Given the description of an element on the screen output the (x, y) to click on. 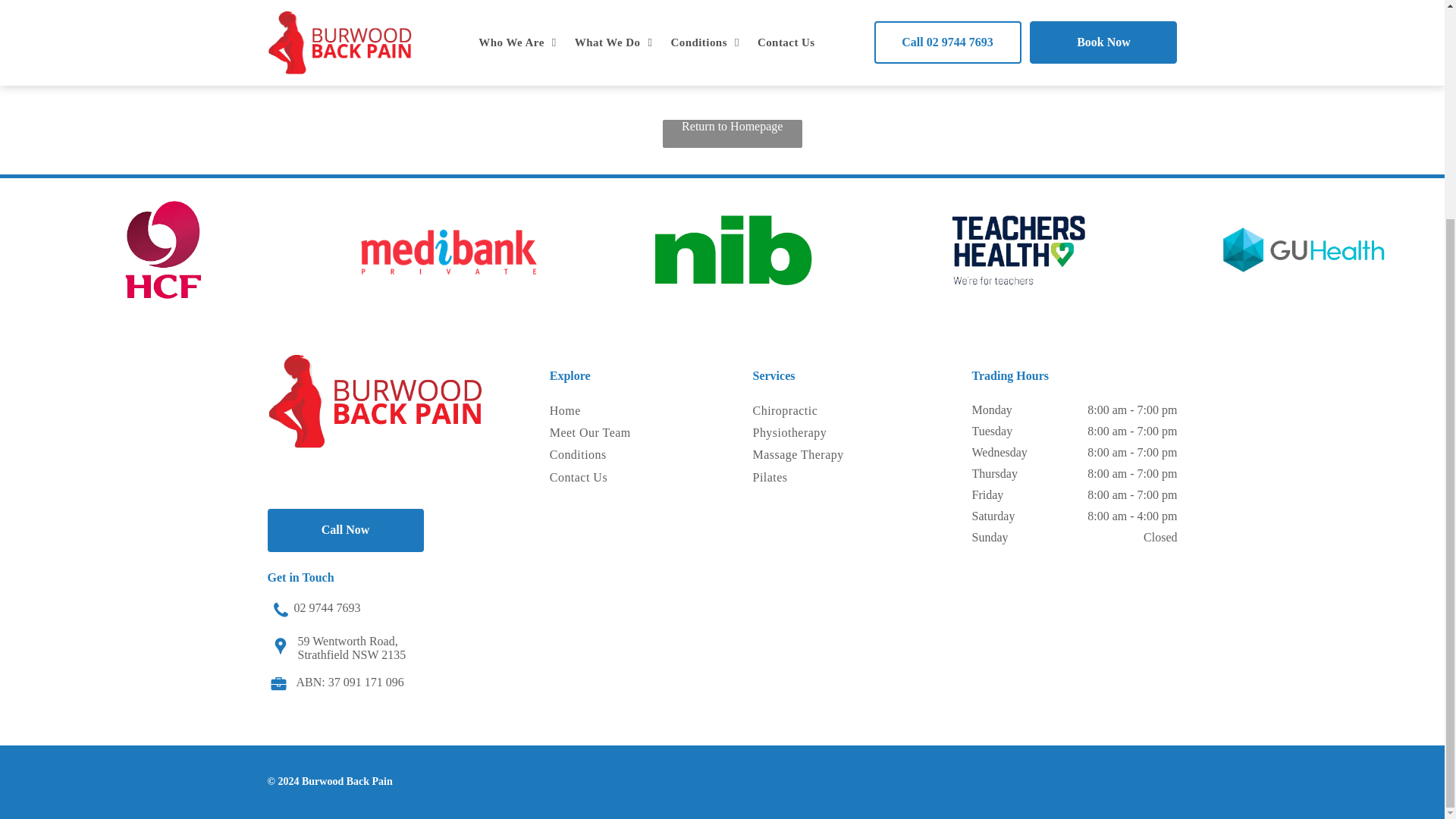
Return to Homepage (732, 133)
Call Now (344, 529)
59 Wentworth Road, Strathfield NSW 2135 (351, 646)
Meet Our Team (598, 433)
Physiotherapy (809, 433)
Home (598, 411)
Contact Us (598, 477)
Chiropractic (809, 411)
Pilates (809, 477)
Massage Therapy (809, 455)
Conditions (598, 455)
02 9744 7693 (327, 606)
Map Pin Icon (280, 644)
Burwood Back Pain: Chiropractic Services in Burwood (373, 400)
